Given the description of an element on the screen output the (x, y) to click on. 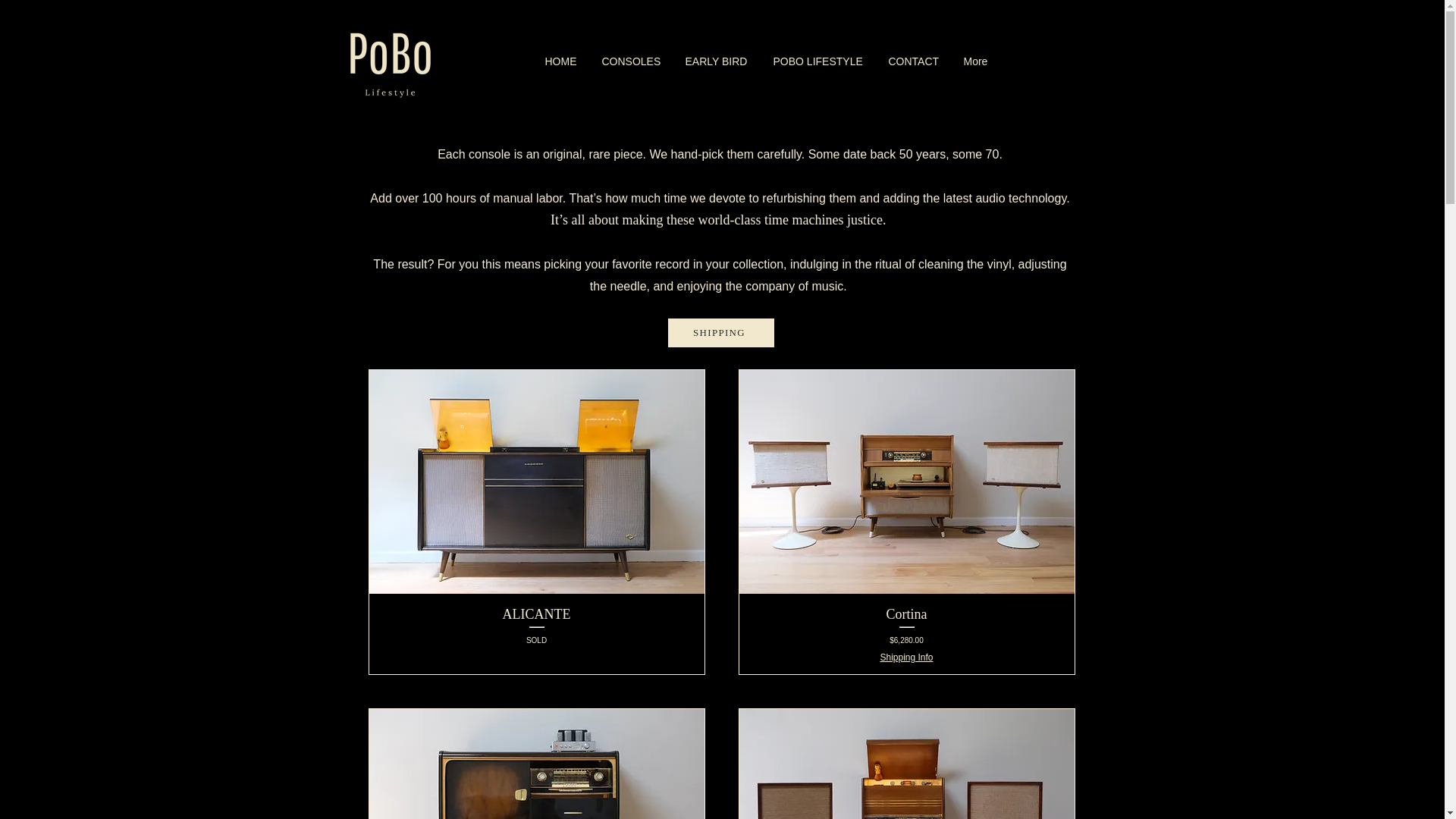
HOME (562, 61)
CONTACT (535, 634)
SHIPPING (914, 61)
Shipping Info (719, 332)
POBO LIFESTYLE (906, 657)
From Portugal to Boulder (818, 61)
EARLY BIRD (390, 61)
